Given the description of an element on the screen output the (x, y) to click on. 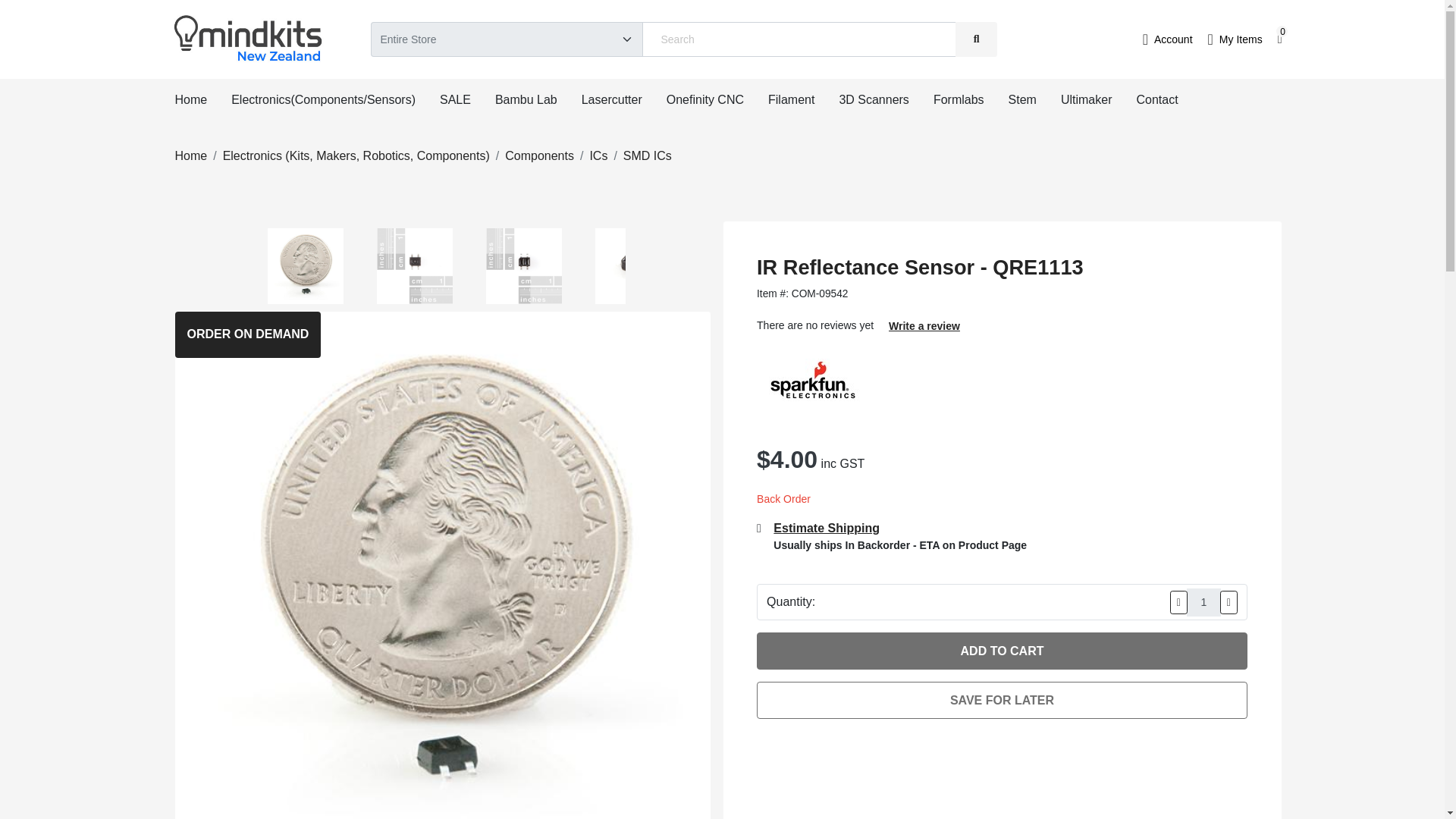
Save For Later (1002, 700)
Onefinity CNC (705, 99)
Add to Cart (1002, 650)
Bambu Lab (526, 99)
1 (1203, 602)
SALE (454, 99)
Lasercutter (611, 99)
Estimate Shipping (899, 528)
Account (1167, 39)
Home (190, 99)
Filament (790, 99)
My Items (1235, 39)
